Given the description of an element on the screen output the (x, y) to click on. 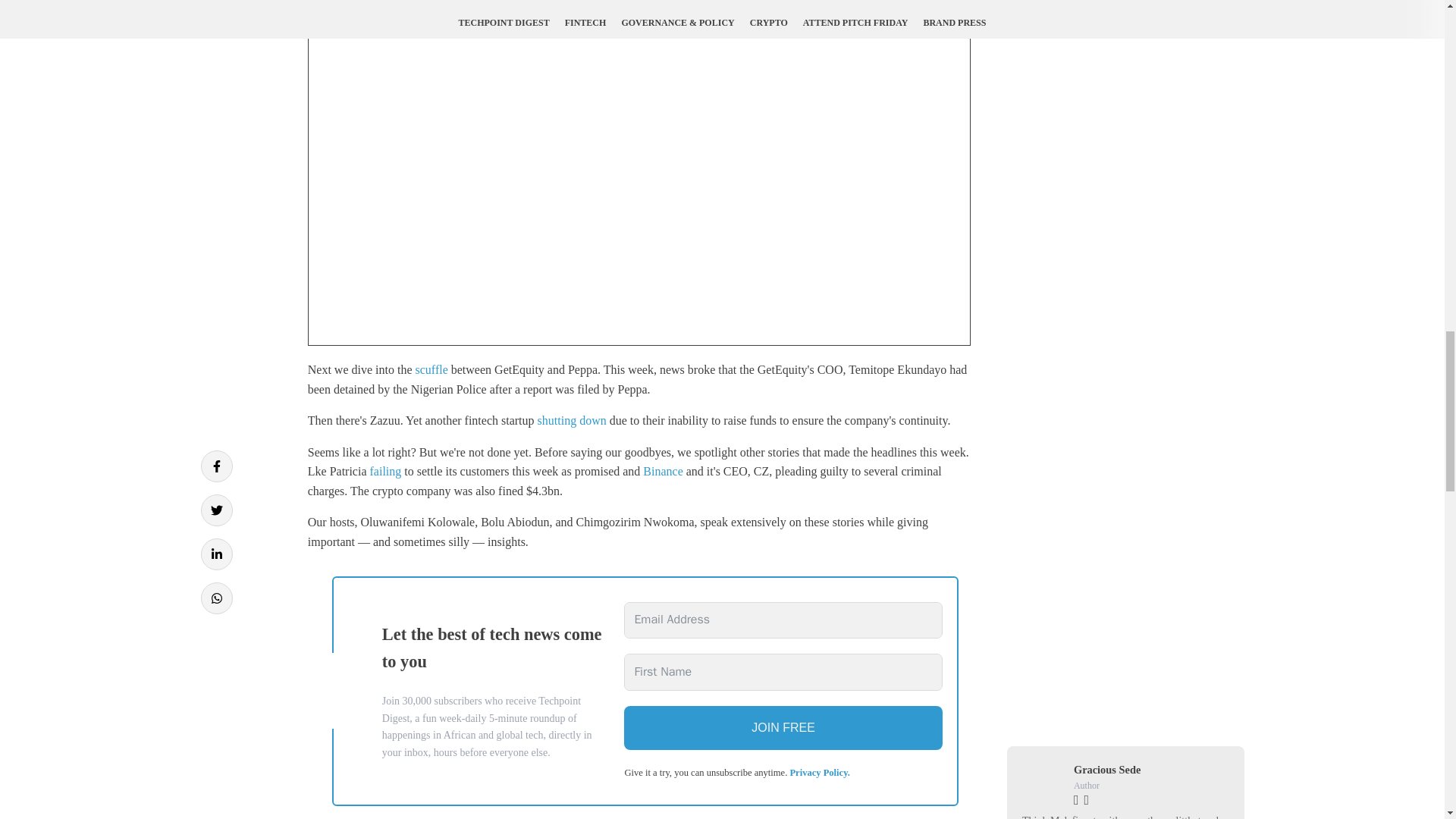
Privacy Policy. (818, 772)
failing (385, 471)
shutting down (572, 420)
scuffle (431, 369)
Binance (662, 471)
JOIN FREE (783, 727)
